Given the description of an element on the screen output the (x, y) to click on. 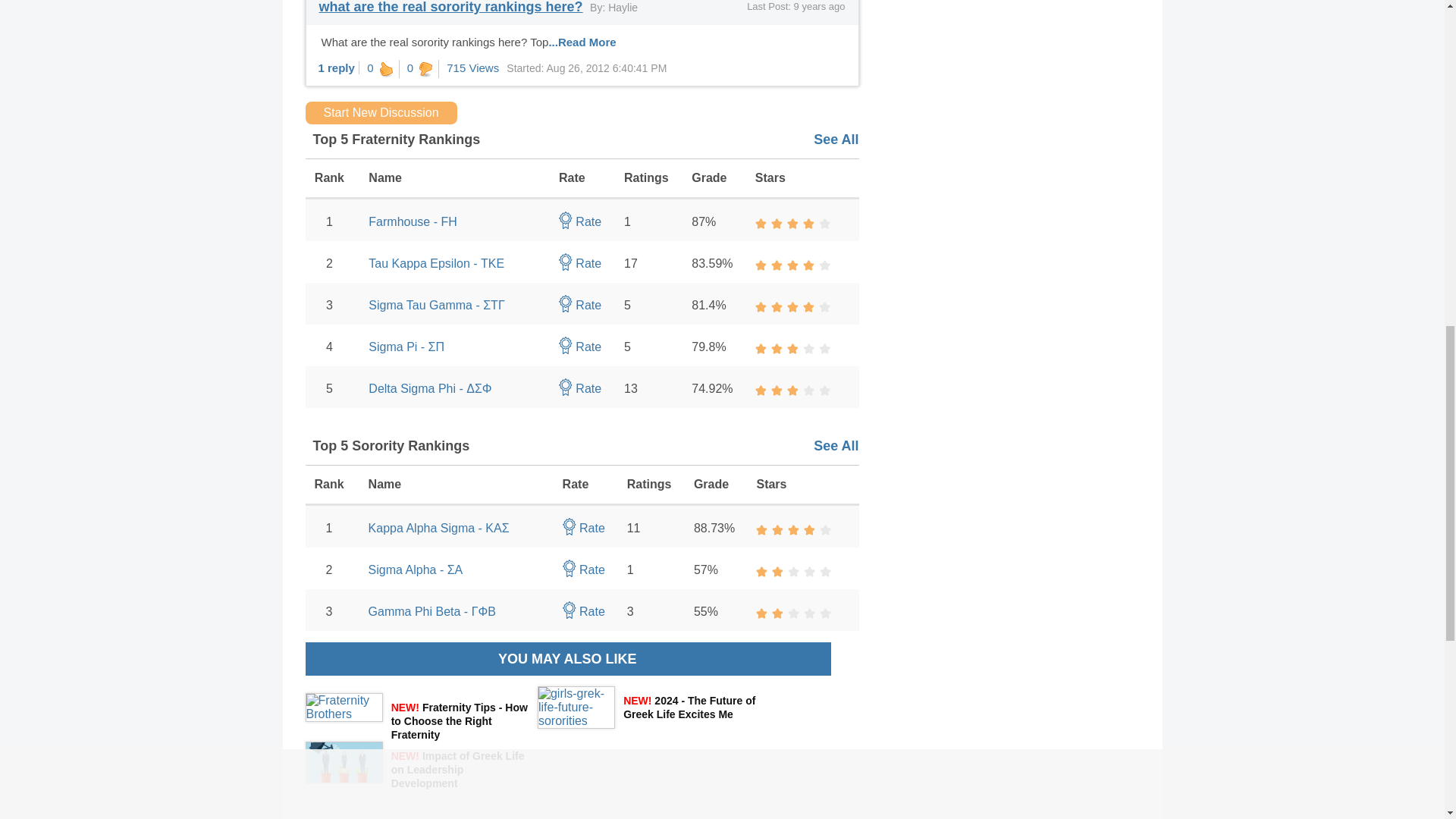
...Read More (581, 42)
what are the real sorority rankings here? (450, 7)
Start New Discussion (380, 112)
See All (836, 139)
Farmhouse - FH (412, 221)
 Rate (580, 221)
1 reply (336, 67)
